Given the description of an element on the screen output the (x, y) to click on. 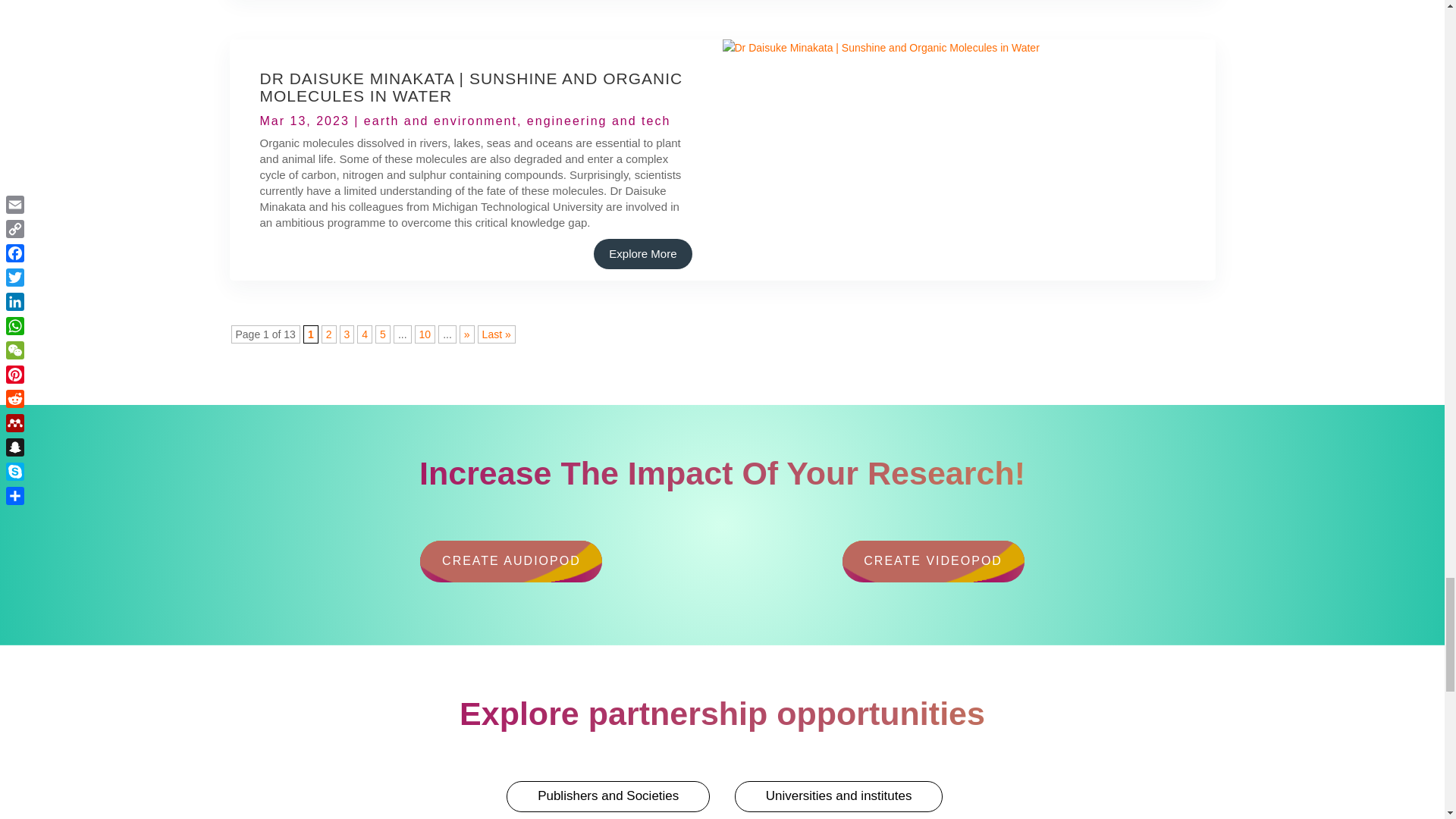
Page 10 (424, 334)
Page 4 (364, 334)
Page 5 (382, 334)
Page 2 (328, 334)
Page 3 (347, 334)
